Given the description of an element on the screen output the (x, y) to click on. 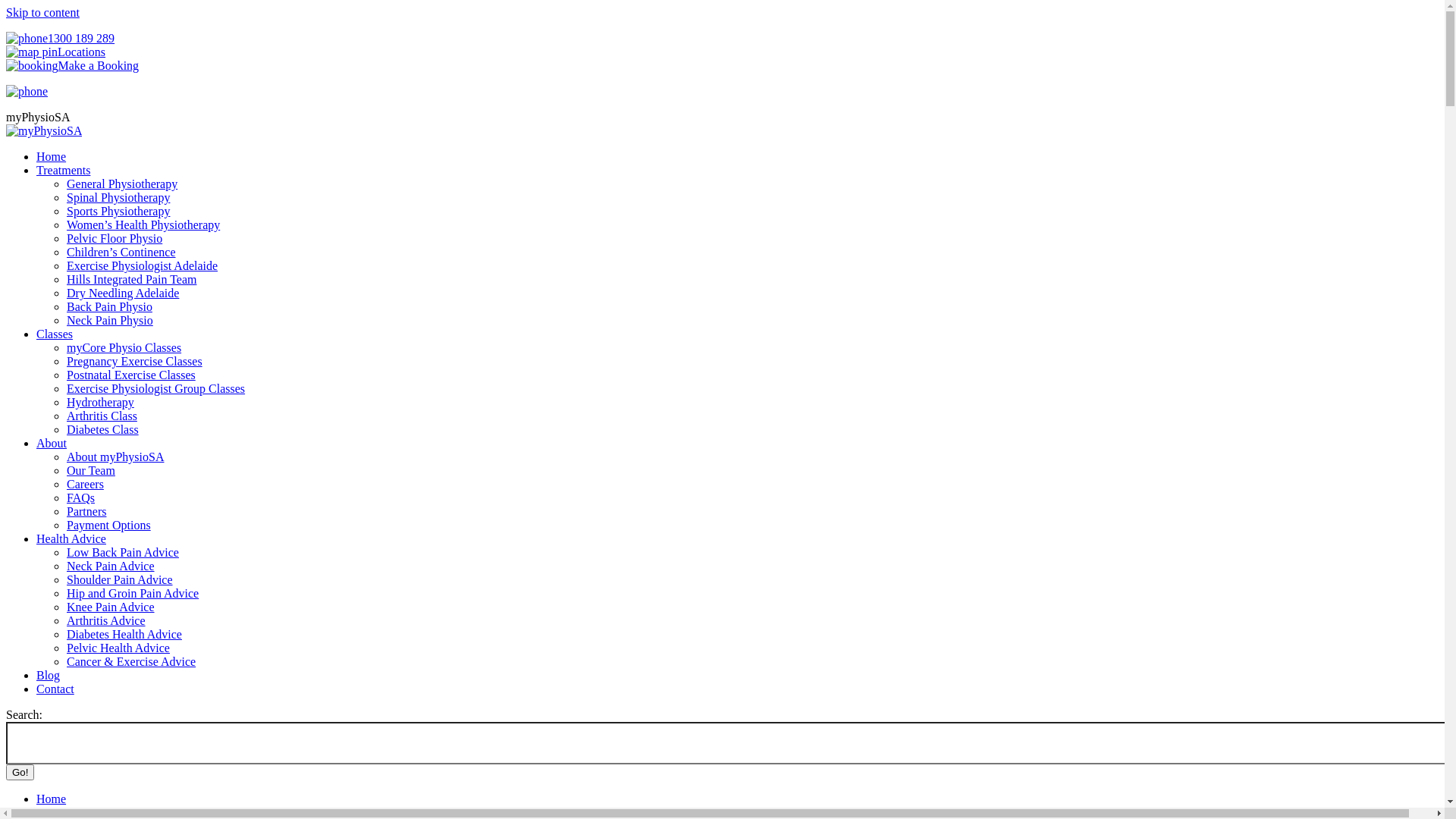
Arthritis Class Element type: text (101, 415)
Contact Element type: text (55, 688)
Low Back Pain Advice Element type: text (122, 552)
Spinal Physiotherapy Element type: text (117, 197)
Payment Options Element type: text (108, 524)
Treatments Element type: text (63, 169)
Knee Pain Advice Element type: text (110, 606)
About Element type: text (51, 442)
Go! Element type: text (20, 772)
FAQs Element type: text (80, 497)
Exercise Physiologist Group Classes Element type: text (155, 388)
Back Pain Physio Element type: text (109, 306)
Blog Element type: text (47, 674)
Dry Needling Adelaide Element type: text (122, 292)
Home Element type: text (50, 156)
Hills Integrated Pain Team Element type: text (131, 279)
Careers Element type: text (84, 483)
Neck Pain Advice Element type: text (110, 565)
Skip to content Element type: text (42, 12)
Pelvic Health Advice Element type: text (117, 647)
Health Advice Element type: text (71, 538)
Diabetes Health Advice Element type: text (124, 633)
Arthritis Advice Element type: text (105, 620)
Hydrotherapy Element type: text (100, 401)
Our Team Element type: text (90, 470)
Shoulder Pain Advice Element type: text (119, 579)
Diabetes Class Element type: text (102, 429)
Pelvic Floor Physio Element type: text (114, 238)
Sports Physiotherapy Element type: text (117, 210)
Cancer & Exercise Advice Element type: text (130, 661)
Home Element type: text (50, 798)
Partners Element type: text (86, 511)
1300 189 289 Element type: text (60, 37)
Locations Element type: text (55, 51)
Make a Booking Element type: text (72, 65)
myCore Physio Classes Element type: text (123, 347)
General Physiotherapy Element type: text (121, 183)
Pregnancy Exercise Classes Element type: text (134, 360)
Exercise Physiologist Adelaide Element type: text (141, 265)
Neck Pain Physio Element type: text (109, 319)
Classes Element type: text (54, 333)
Hip and Groin Pain Advice Element type: text (132, 592)
Postnatal Exercise Classes Element type: text (130, 374)
About myPhysioSA Element type: text (114, 456)
